Given the description of an element on the screen output the (x, y) to click on. 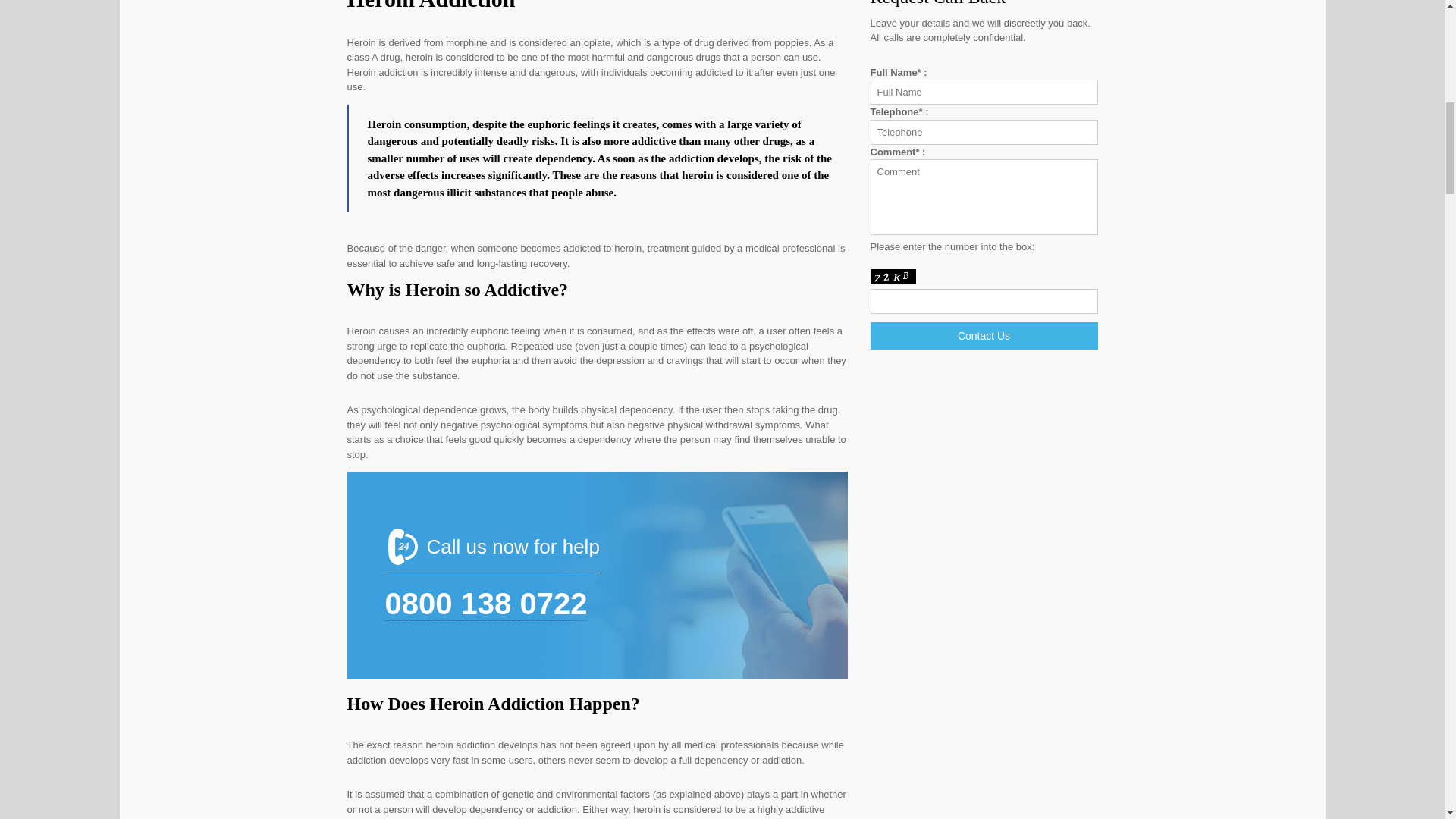
Contact Us (983, 334)
